Given the description of an element on the screen output the (x, y) to click on. 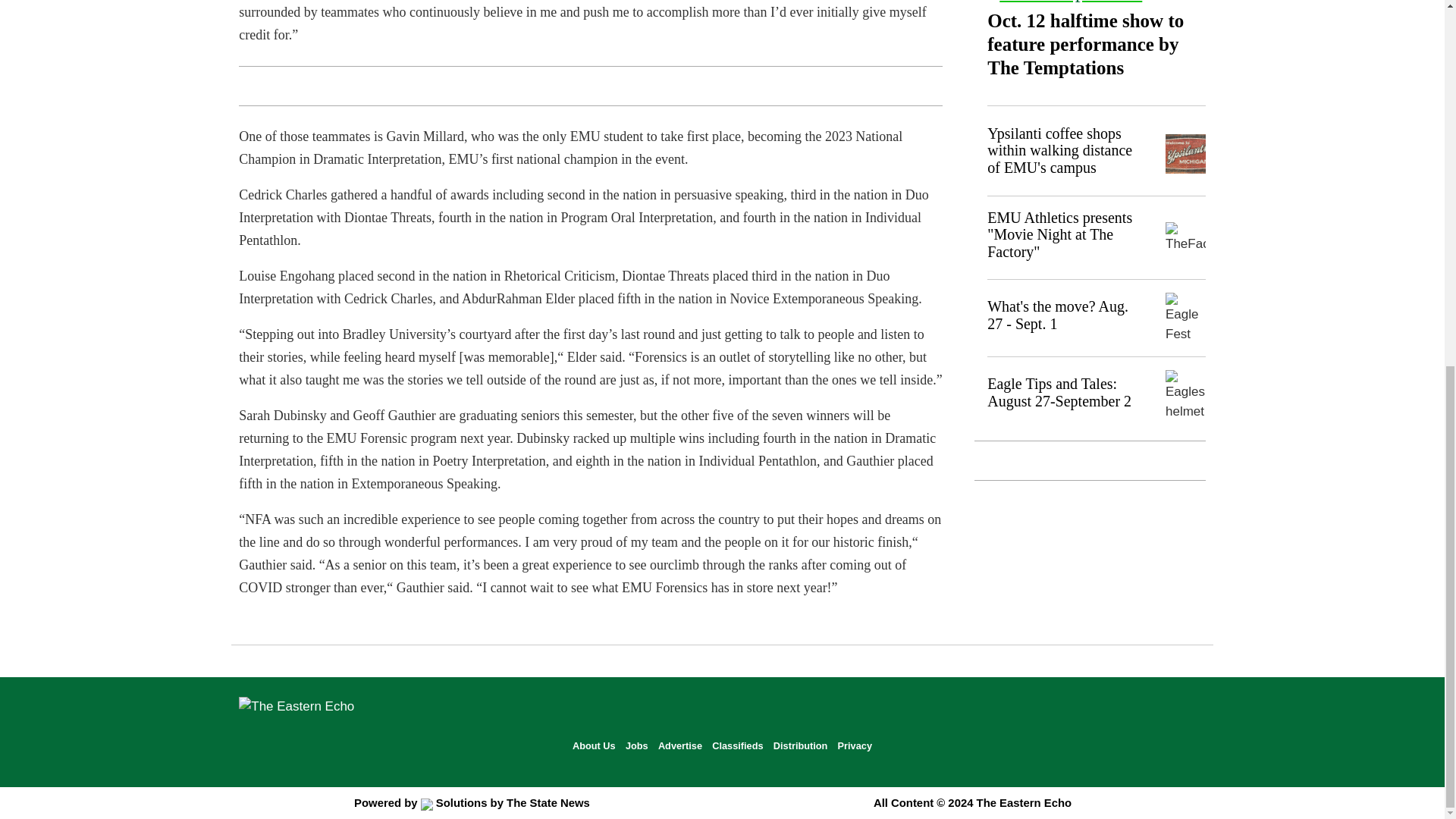
What's the move? Aug. 27 - Sept.  1 (1057, 314)
EMU Athletics presents "Movie Night at The Factory" (1059, 234)
Eagle Tips and Tales: August 27-September 2 (1059, 391)
